Given the description of an element on the screen output the (x, y) to click on. 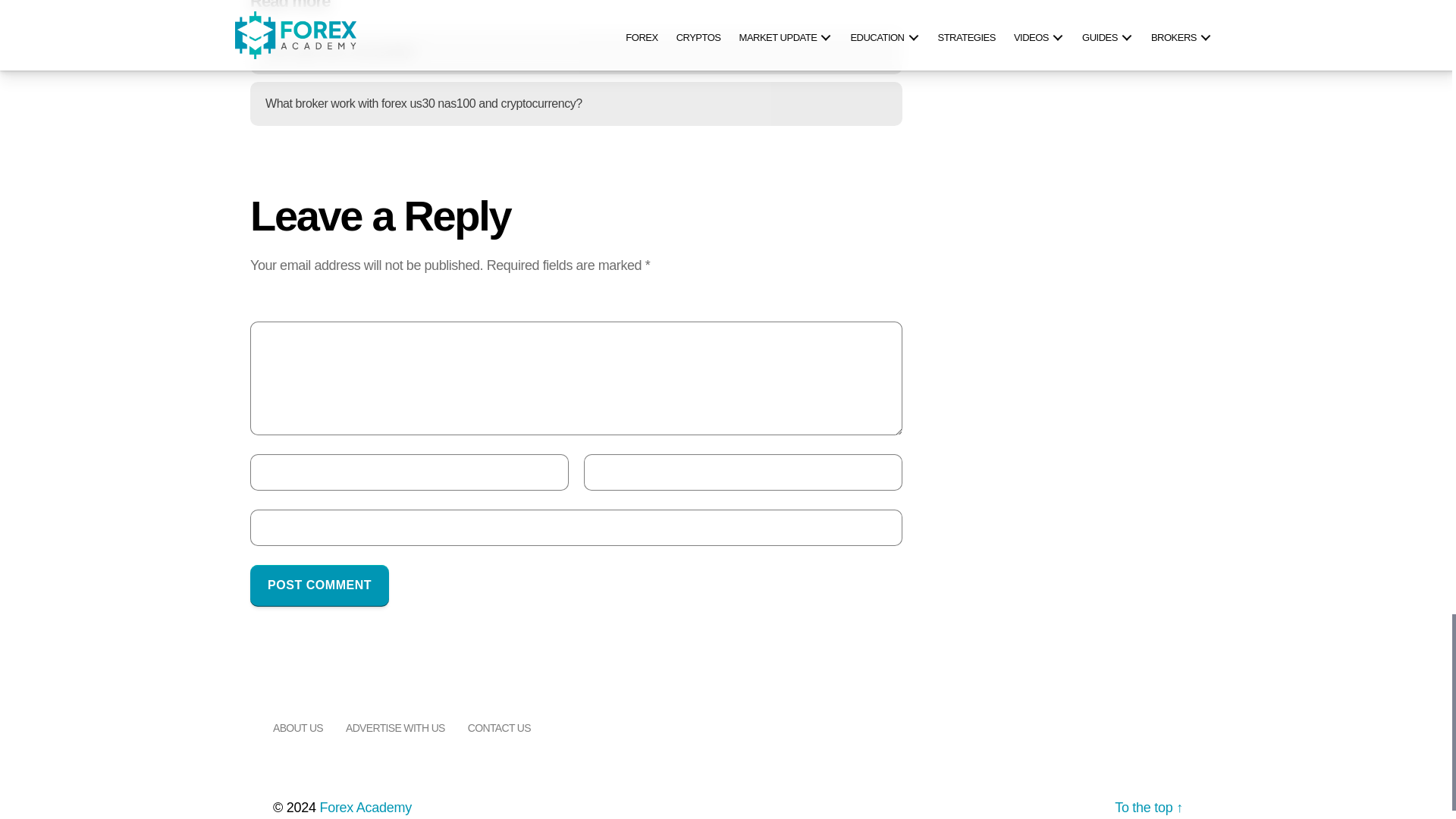
Post Comment (319, 585)
